Given the description of an element on the screen output the (x, y) to click on. 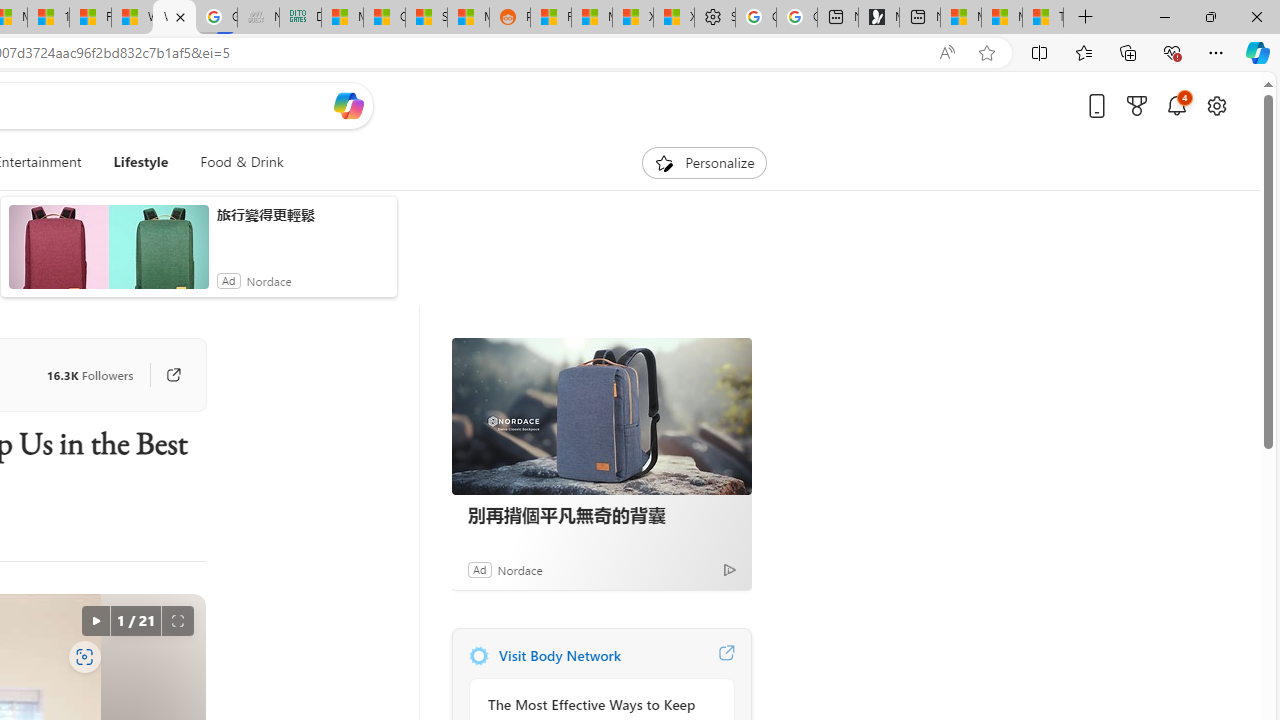
autorotate button (95, 620)
Fitness - MSN (90, 17)
These 3 Stocks Pay You More Than 5% to Own Them (1042, 17)
Go to publisher's site (163, 374)
